Given the description of an element on the screen output the (x, y) to click on. 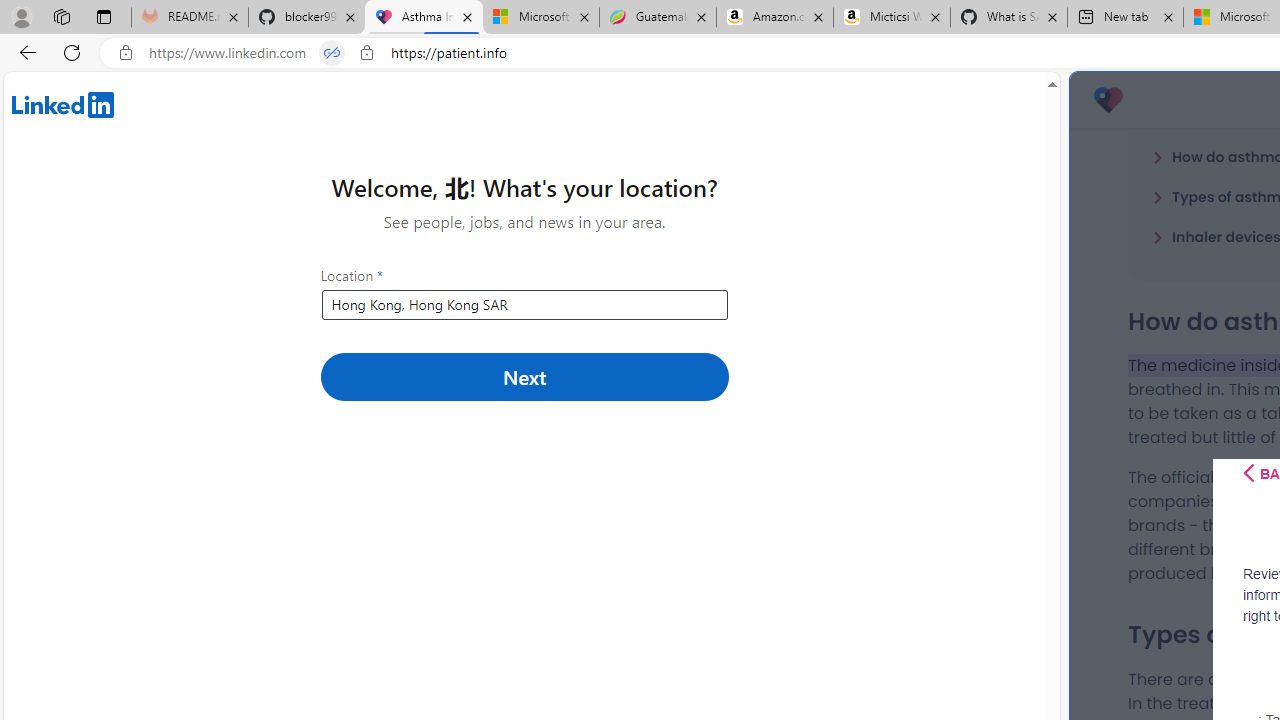
Class: css-i5klq5 (1248, 473)
